Given the description of an element on the screen output the (x, y) to click on. 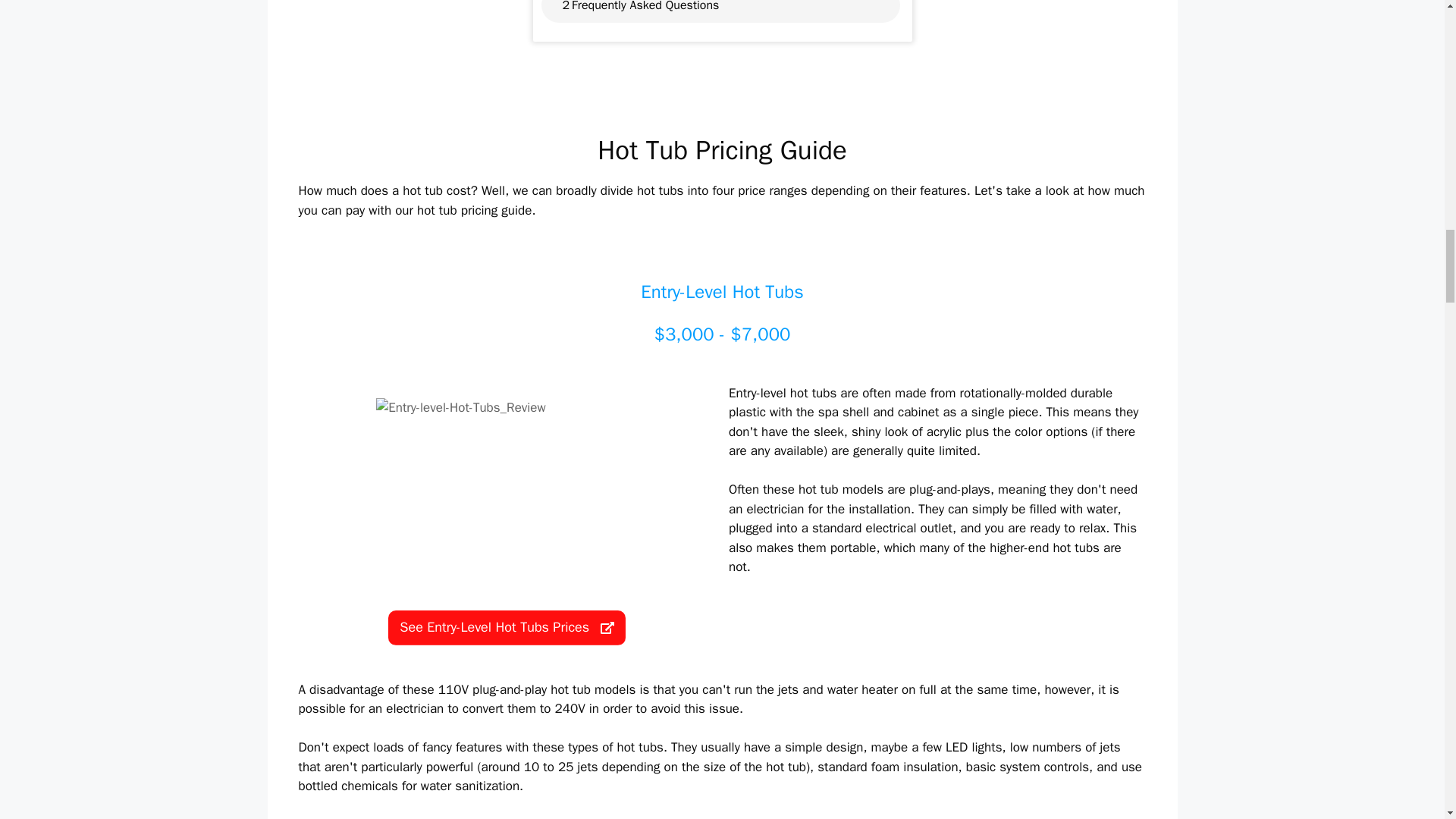
See Entry-Level Hot Tubs Prices (507, 627)
Frequently Asked Questions (645, 6)
Frequently Asked Questions (645, 6)
Entry-level-Hot-Tubs (506, 488)
Entry-Level Hot Tubs (721, 291)
